Given the description of an element on the screen output the (x, y) to click on. 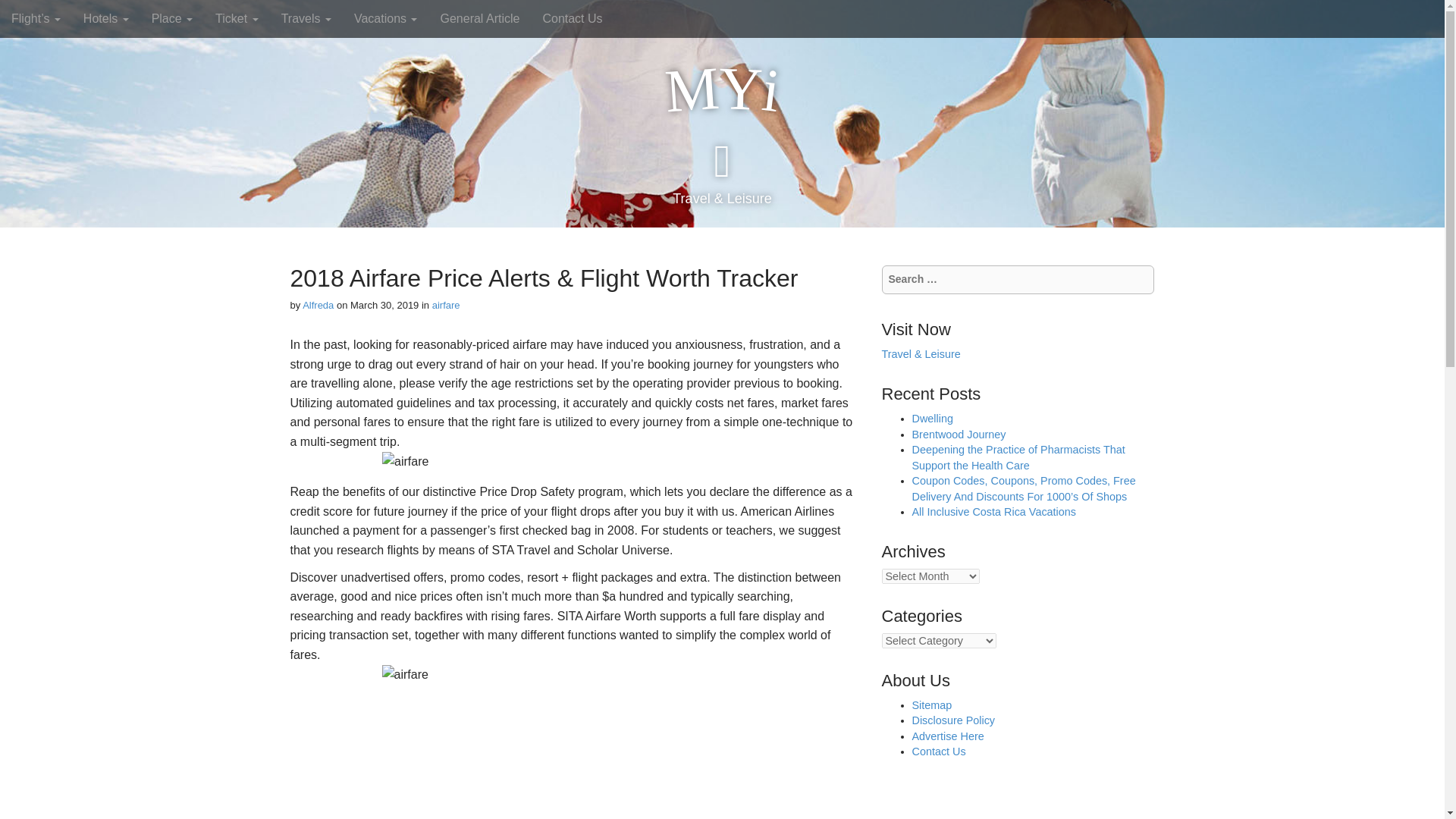
Ticket (236, 18)
March 30, 2019 (384, 305)
General Article (479, 18)
Contact Us (571, 18)
Alfreda (317, 305)
airfare (446, 305)
Place (171, 18)
Travels (305, 18)
Posts by Alfreda (317, 305)
Hotels (105, 18)
